Given the description of an element on the screen output the (x, y) to click on. 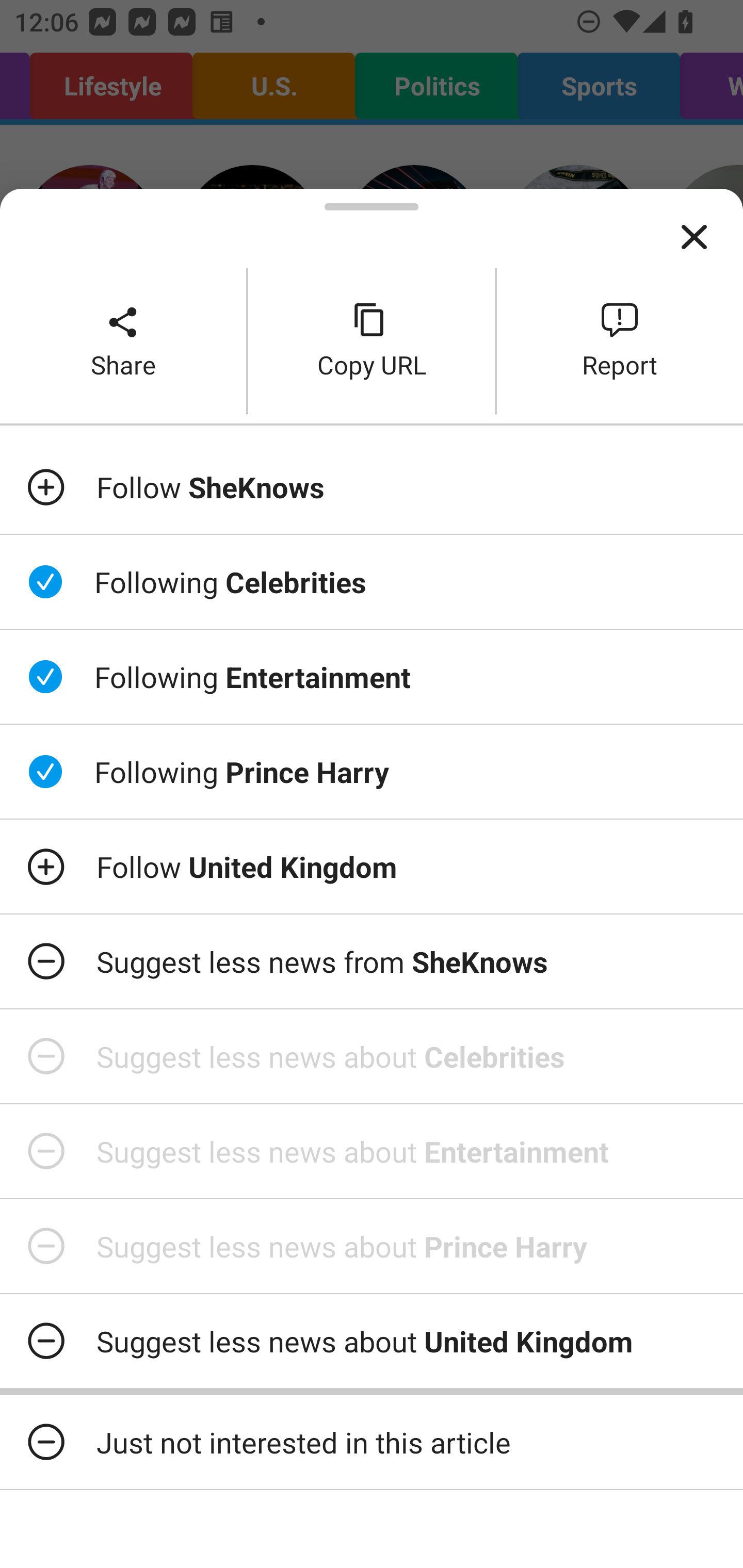
Close (694, 237)
Share (122, 340)
Copy URL (371, 340)
Report (620, 340)
Follow SheKnows (371, 486)
Following Celebrities (371, 581)
Following Entertainment (371, 677)
Following Prince Harry (371, 771)
Follow United Kingdom (371, 867)
Suggest less news from SheKnows (371, 961)
Suggest less news about United Kingdom (371, 1340)
Just not interested in this article (371, 1442)
